Given the description of an element on the screen output the (x, y) to click on. 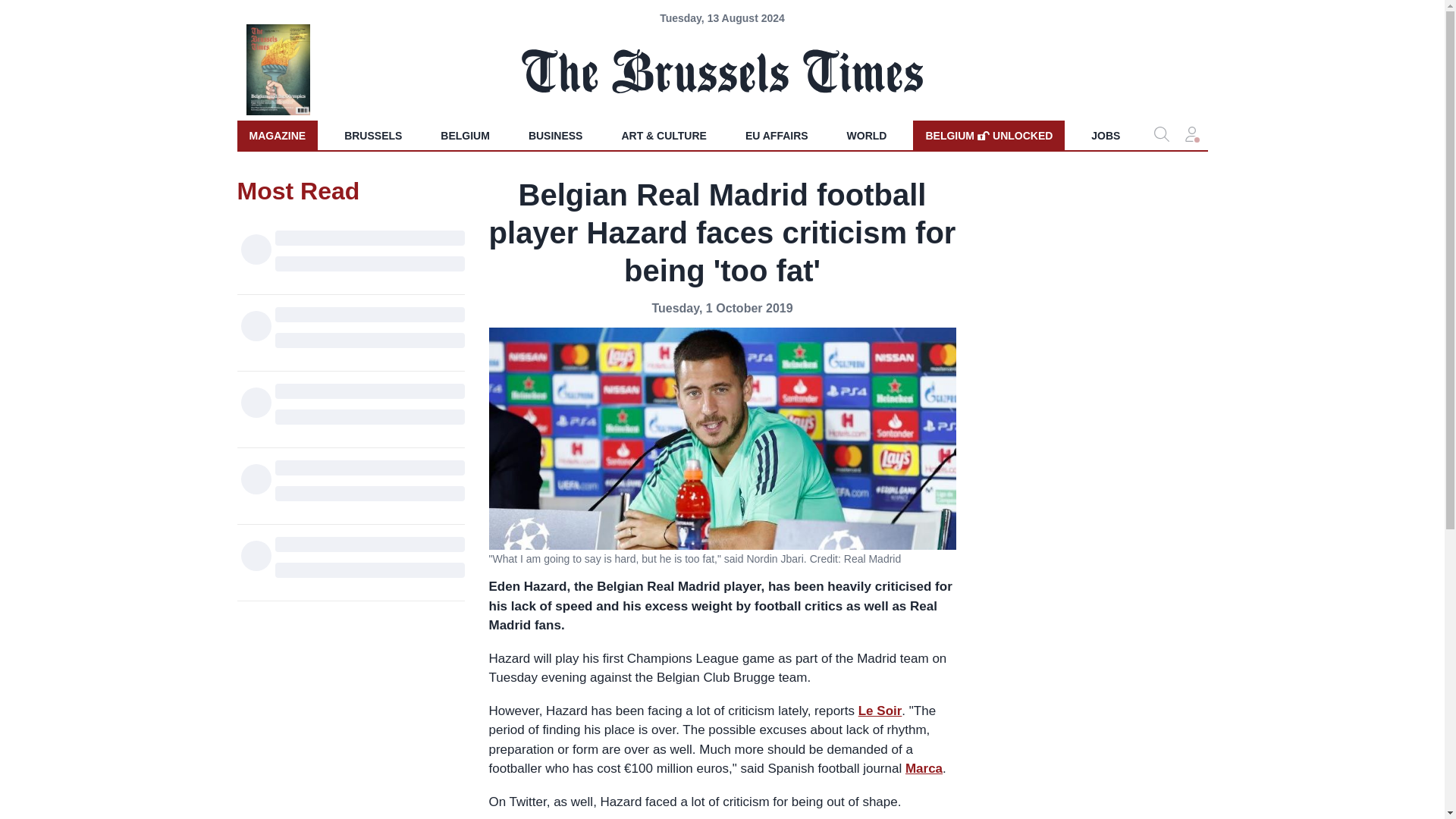
MAGAZINE (276, 135)
EU AFFAIRS (777, 135)
BRUSSELS (372, 135)
JOBS (1105, 135)
BELGIUM (465, 135)
Marca (988, 135)
WORLD (923, 768)
Le Soir (866, 135)
BUSINESS (880, 710)
